Given the description of an element on the screen output the (x, y) to click on. 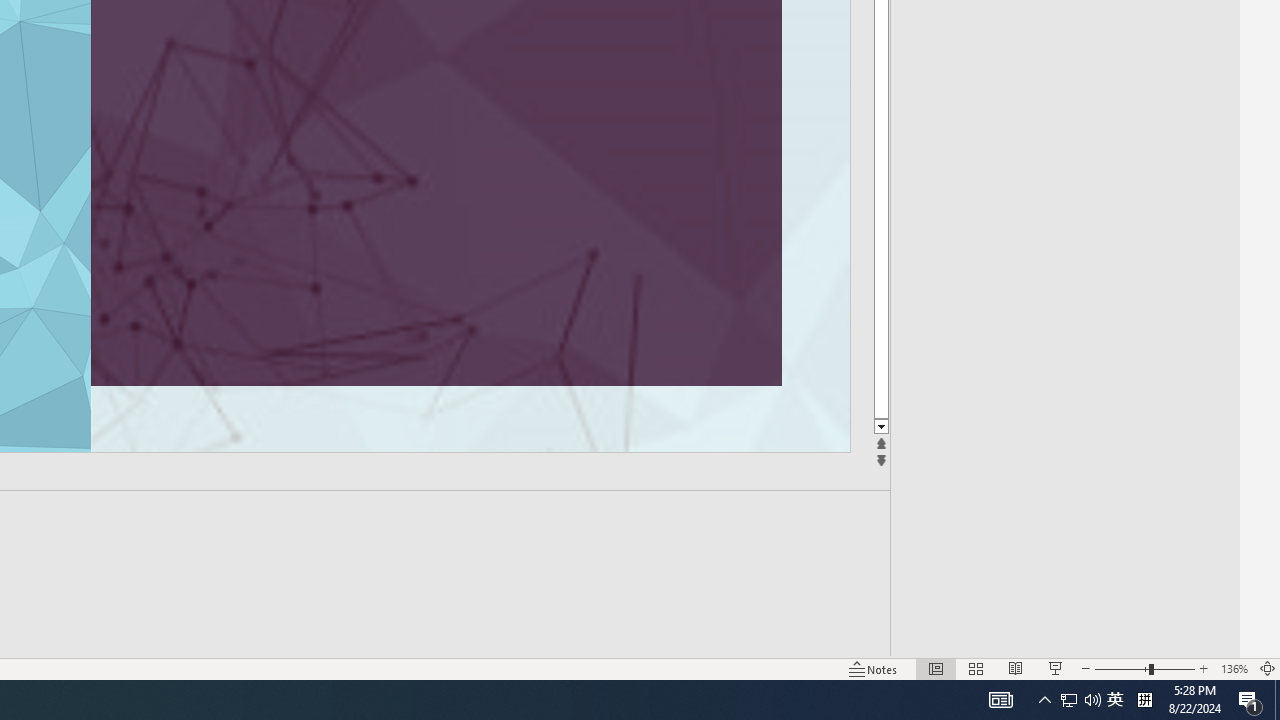
Zoom 136% (1234, 668)
